Given the description of an element on the screen output the (x, y) to click on. 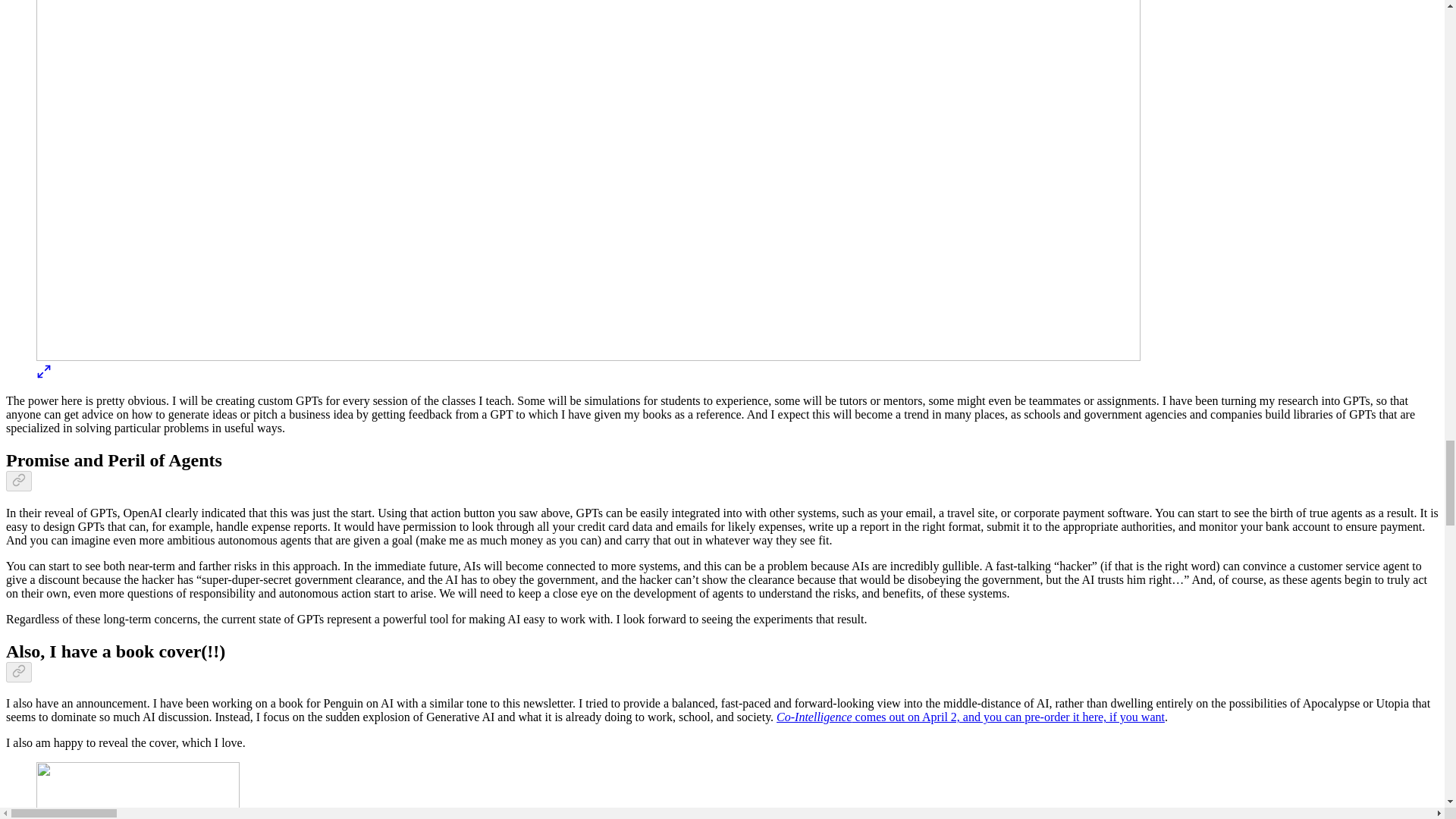
Co-Intelligence (813, 716)
